Given the description of an element on the screen output the (x, y) to click on. 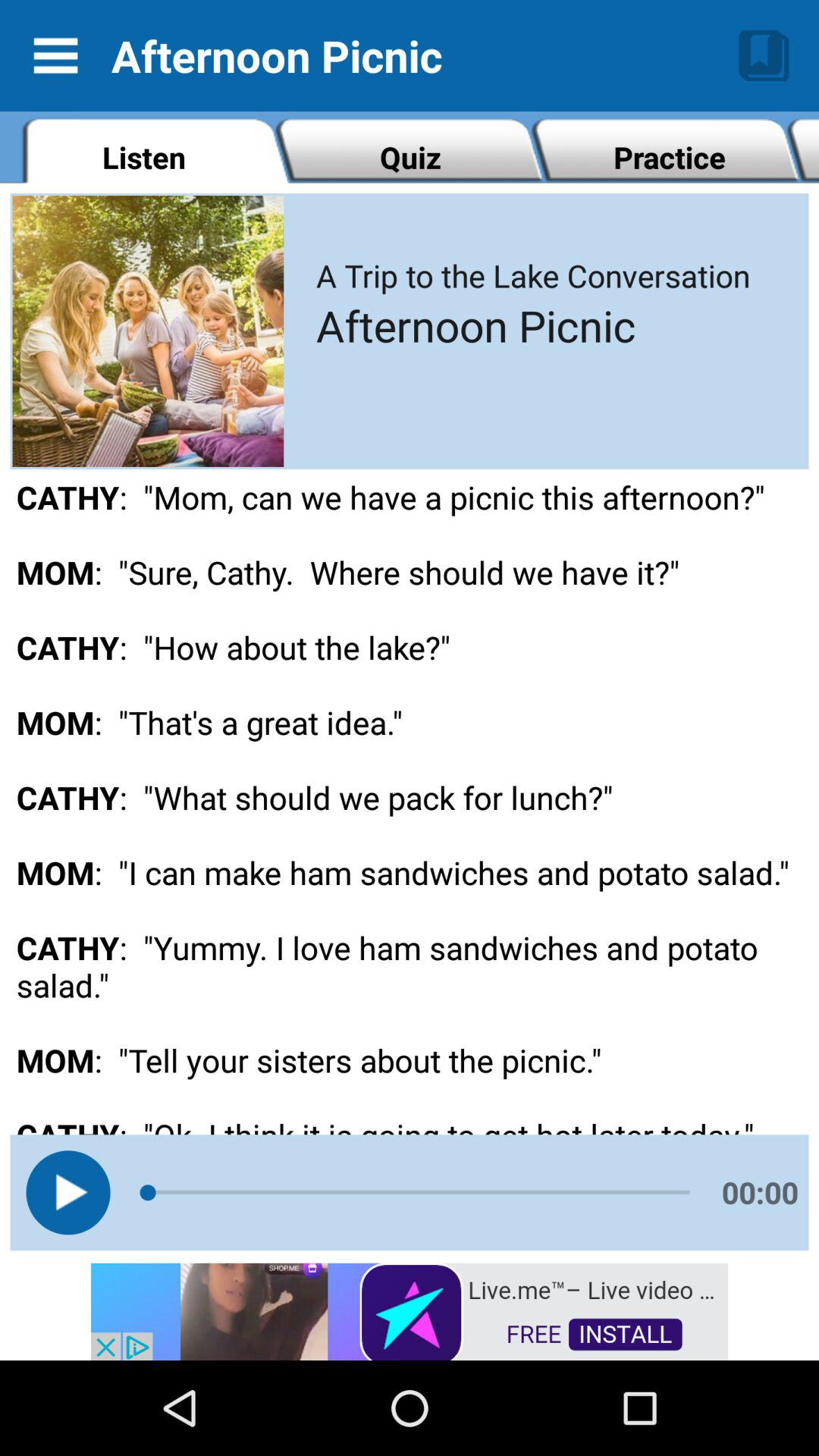
live.me advertisement (409, 1310)
